Given the description of an element on the screen output the (x, y) to click on. 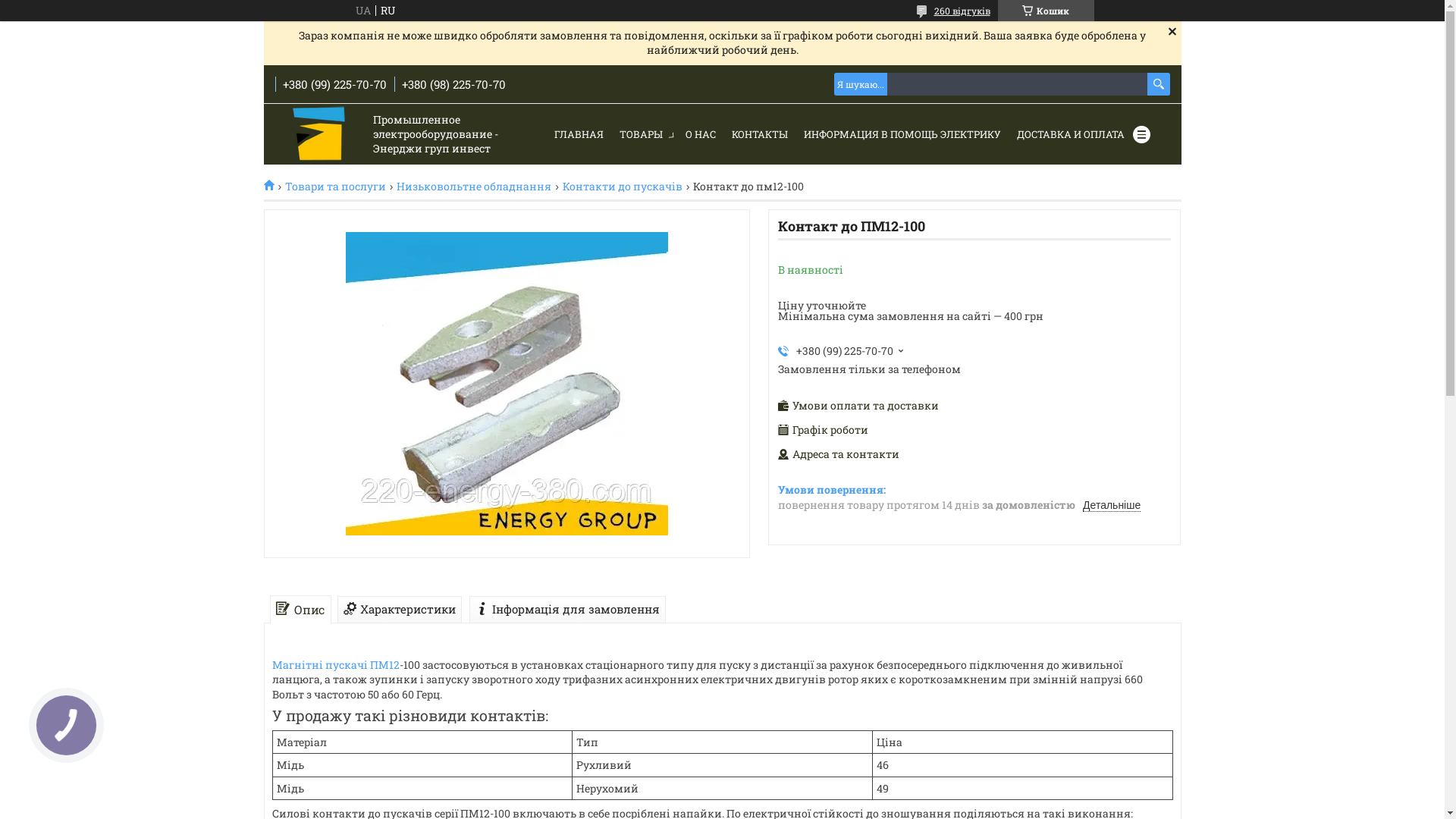
RU Element type: text (386, 10)
UA Element type: text (362, 10)
